Given the description of an element on the screen output the (x, y) to click on. 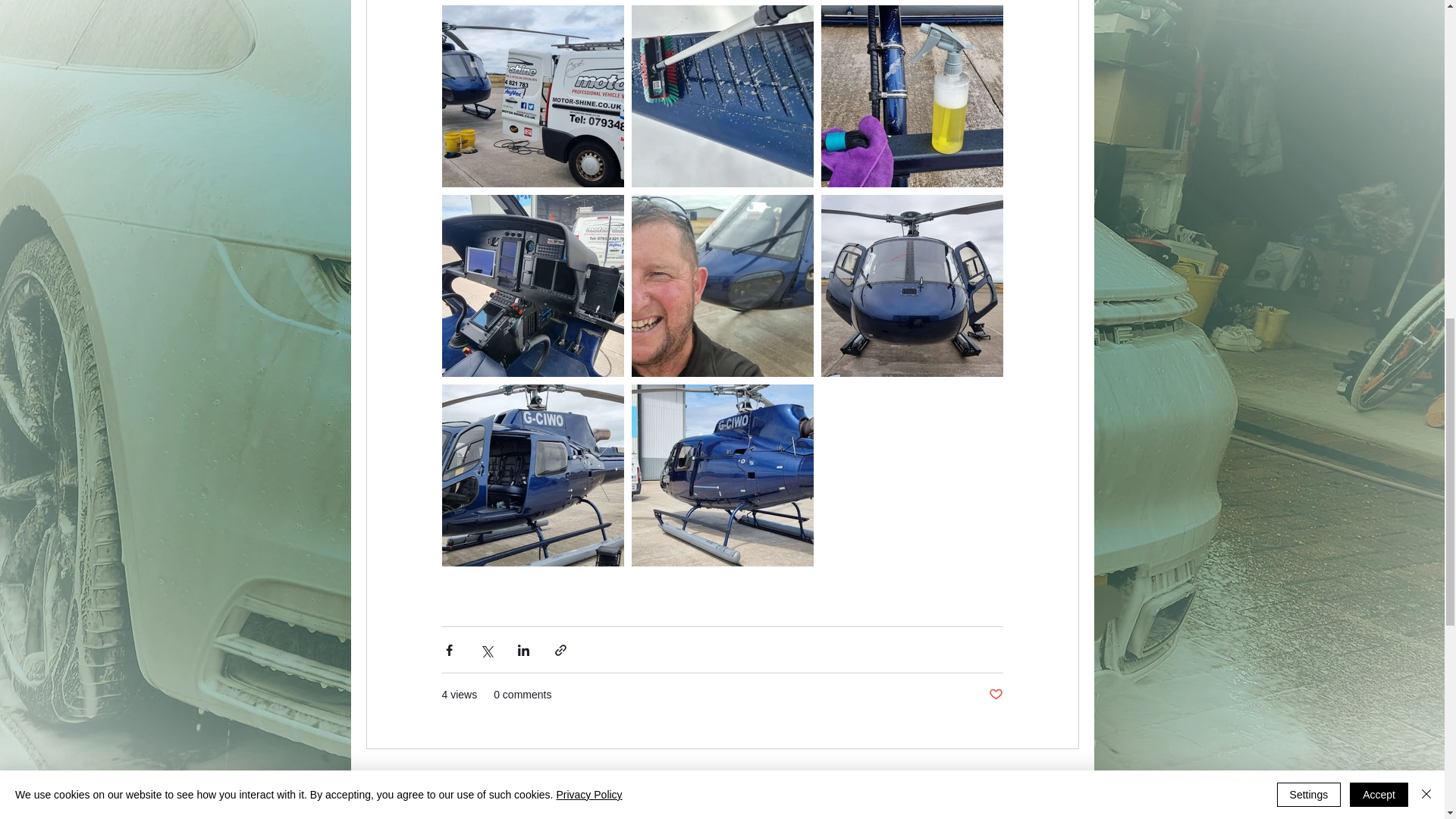
See All (1061, 777)
Post not marked as liked (995, 694)
